Given the description of an element on the screen output the (x, y) to click on. 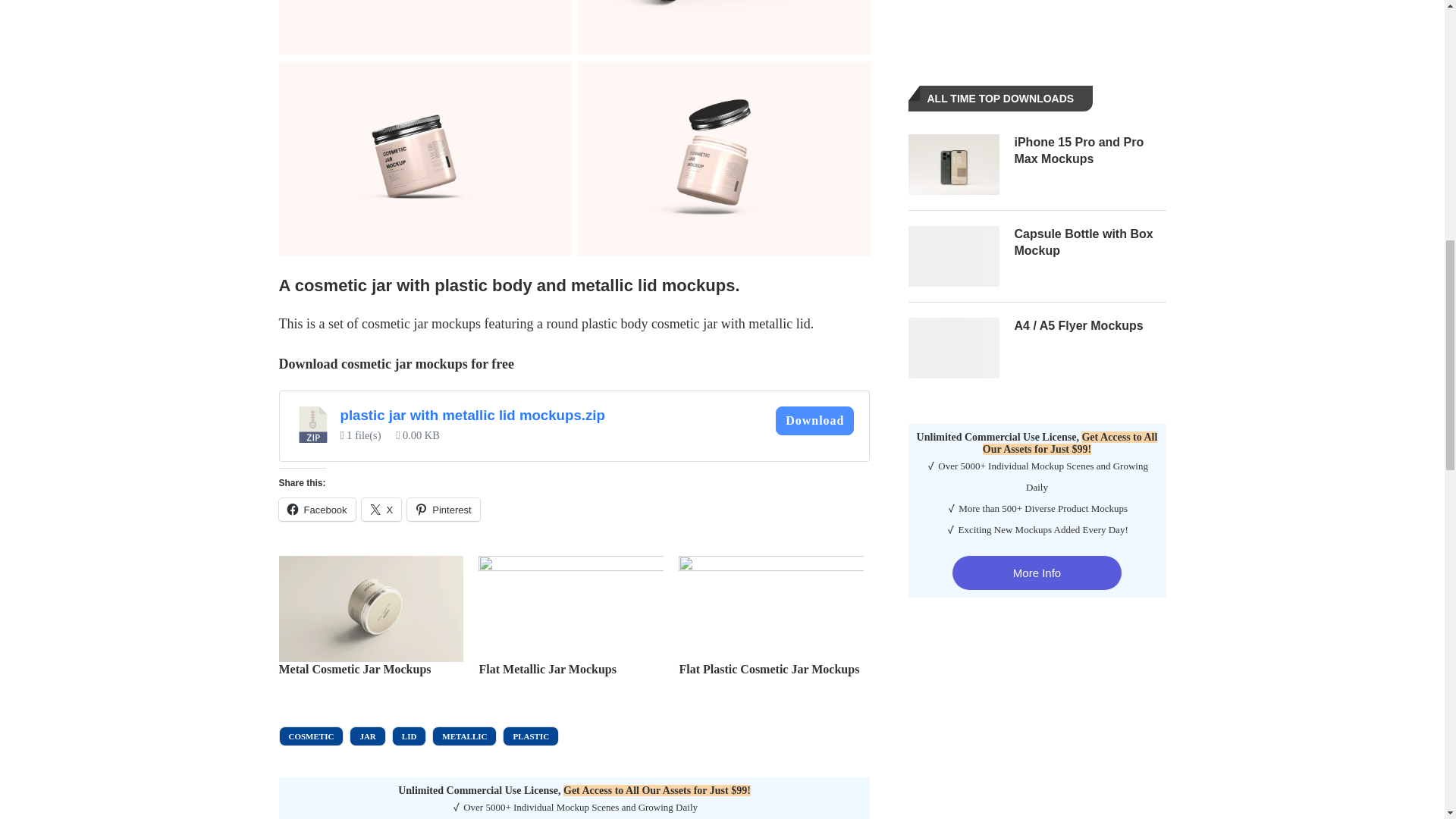
Flat Metallic Jar Mockups (547, 668)
Flat Metallic Jar Mockups (571, 608)
Click to share on X (381, 508)
Metal Cosmetic Jar Mockups (371, 608)
Flat Plastic Cosmetic Jar Mockups (770, 608)
Flat Plastic Cosmetic Jar Mockups (768, 668)
Click to share on Facebook (317, 508)
Click to share on Pinterest (443, 508)
Metal Cosmetic Jar Mockups (354, 668)
